Given the description of an element on the screen output the (x, y) to click on. 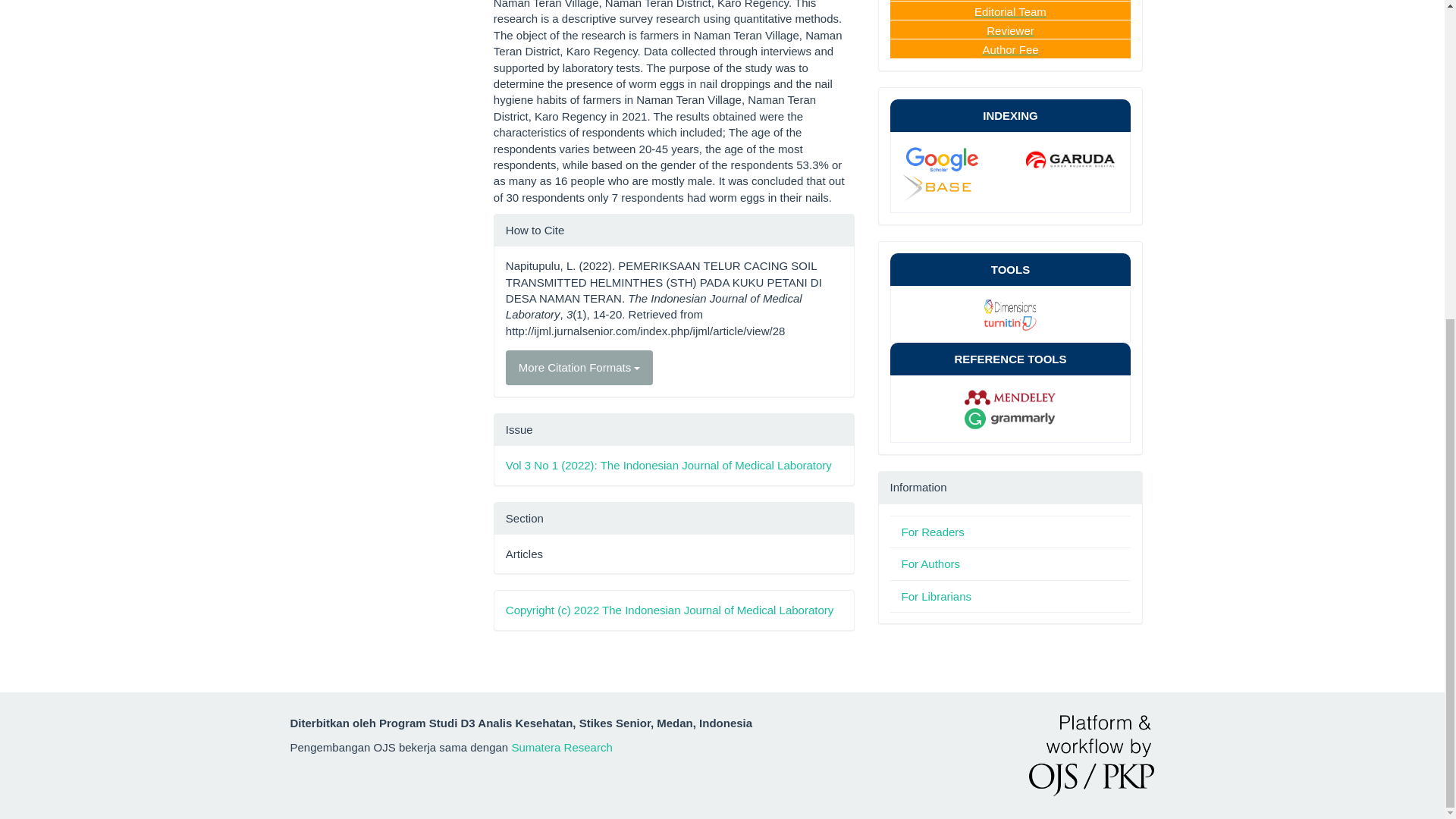
Template  (1010, 172)
Reviewer (1010, 30)
More Citation Formats (579, 367)
Editorial Team (1010, 11)
Template  (956, 158)
